Given the description of an element on the screen output the (x, y) to click on. 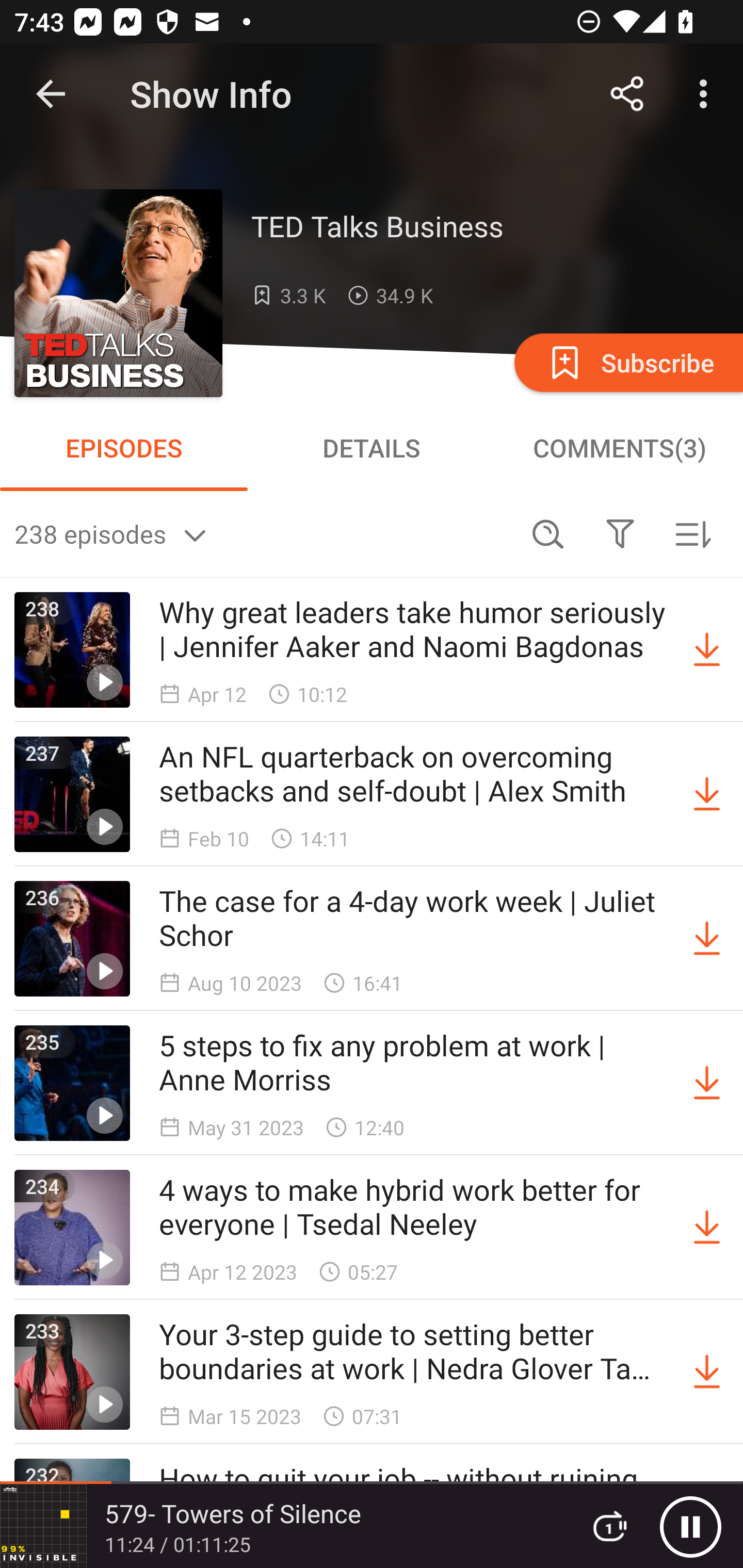
Navigate up (50, 93)
Share (626, 93)
More options (706, 93)
Subscribe (627, 361)
EPISODES (123, 447)
DETAILS (371, 447)
COMMENTS(3) (619, 447)
238 episodes  (262, 533)
 Search (547, 533)
 (619, 533)
 Sorted by newest first (692, 533)
Download (706, 649)
Download (706, 793)
Download (706, 939)
Download (706, 1083)
Download (706, 1227)
Download (706, 1371)
579- Towers of Silence 11:24 / 01:11:25 (283, 1525)
Pause (690, 1526)
